Given the description of an element on the screen output the (x, y) to click on. 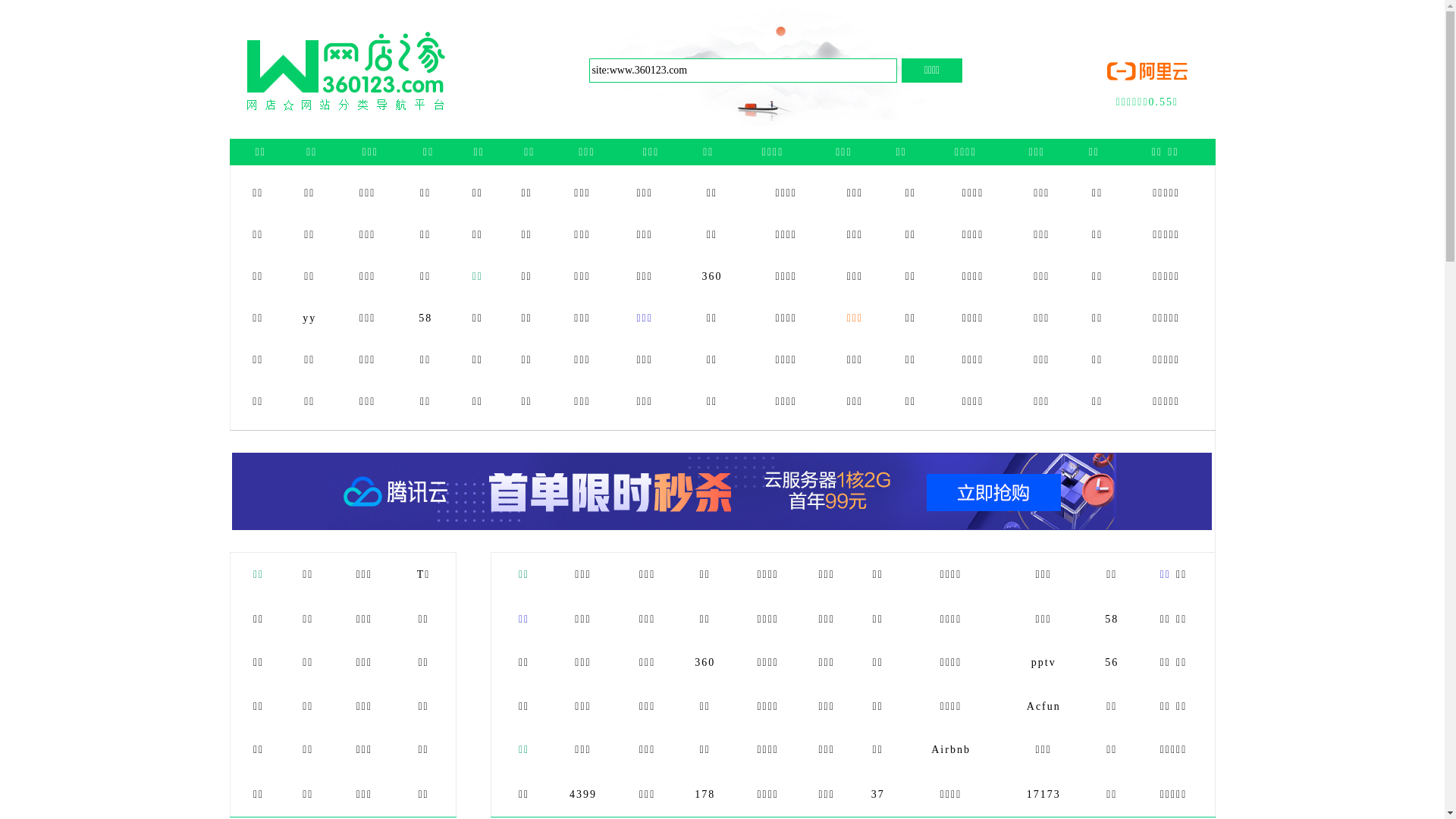
yy Element type: text (309, 317)
pptv Element type: text (1043, 662)
56 Element type: text (1111, 662)
178 Element type: text (704, 794)
360 Element type: text (704, 662)
17173 Element type: text (1043, 794)
37 Element type: text (877, 794)
Acfun Element type: text (1043, 706)
360 Element type: text (712, 276)
58 Element type: text (425, 317)
4399 Element type: text (582, 794)
Airbnb Element type: text (950, 749)
58 Element type: text (1111, 618)
